Given the description of an element on the screen output the (x, y) to click on. 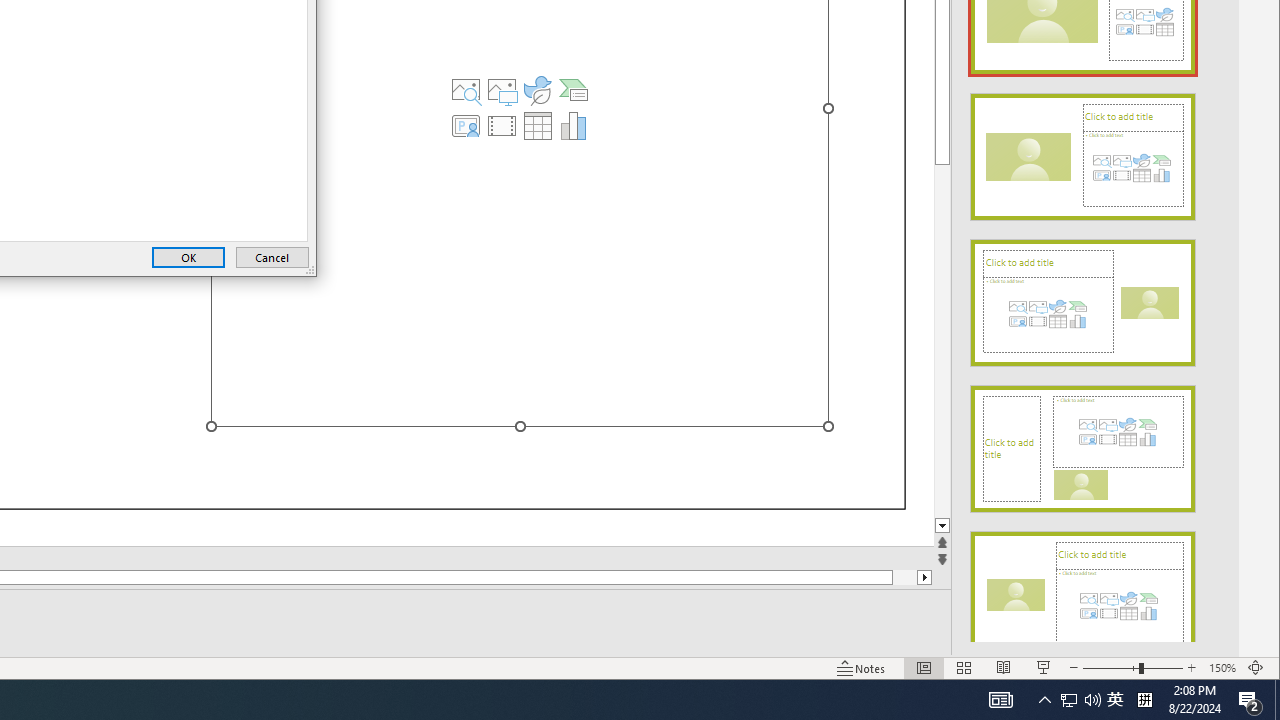
Insert Table (538, 125)
Insert an Icon (538, 89)
Insert Video (502, 125)
Stock Images (466, 89)
OK (188, 257)
